Given the description of an element on the screen output the (x, y) to click on. 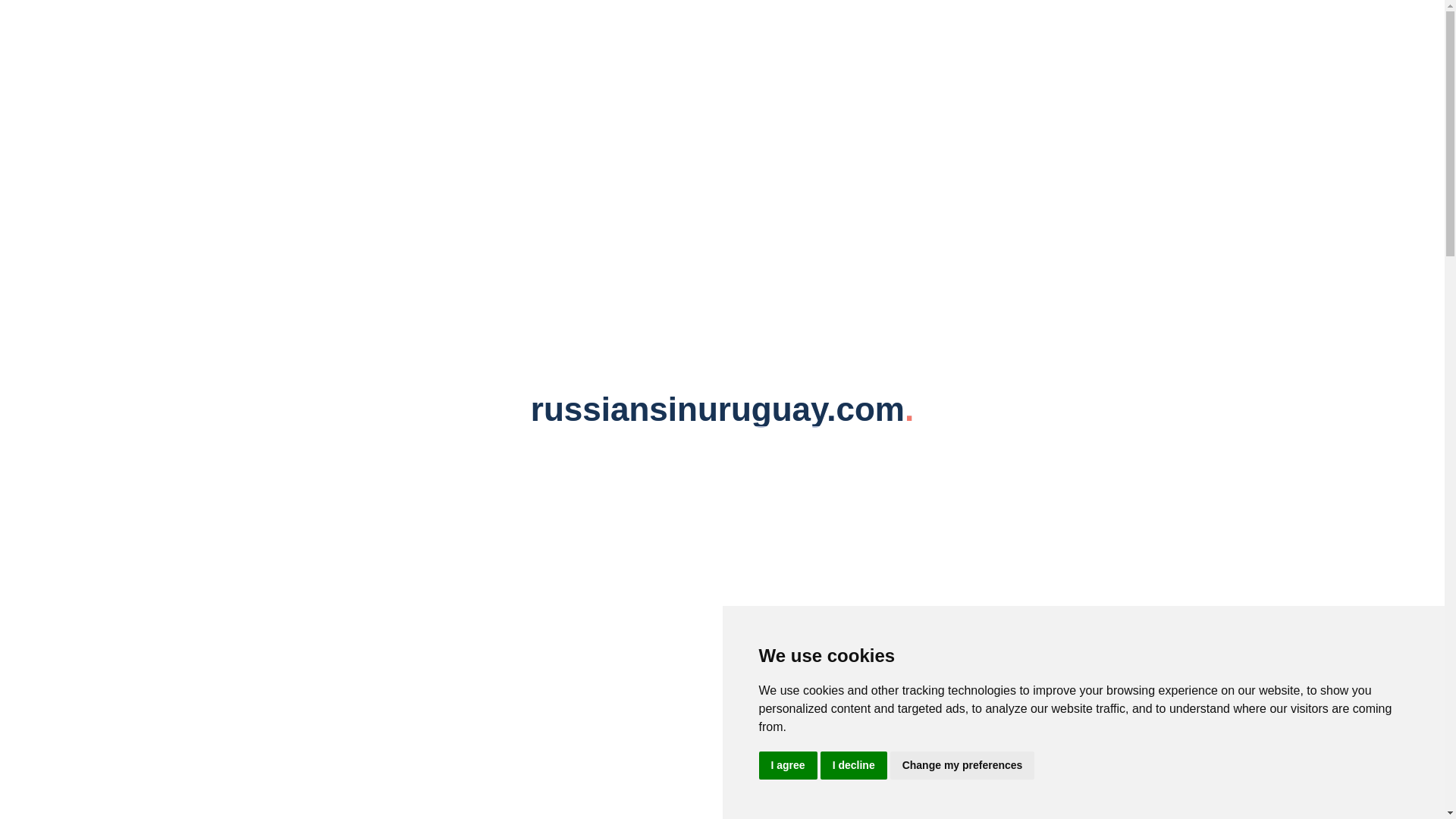
Contacto (541, 80)
I agree (787, 765)
Blog (402, 80)
Change my preferences (962, 765)
Portada (325, 80)
I decline (853, 765)
 russiansinuruguay.com (721, 30)
